Given the description of an element on the screen output the (x, y) to click on. 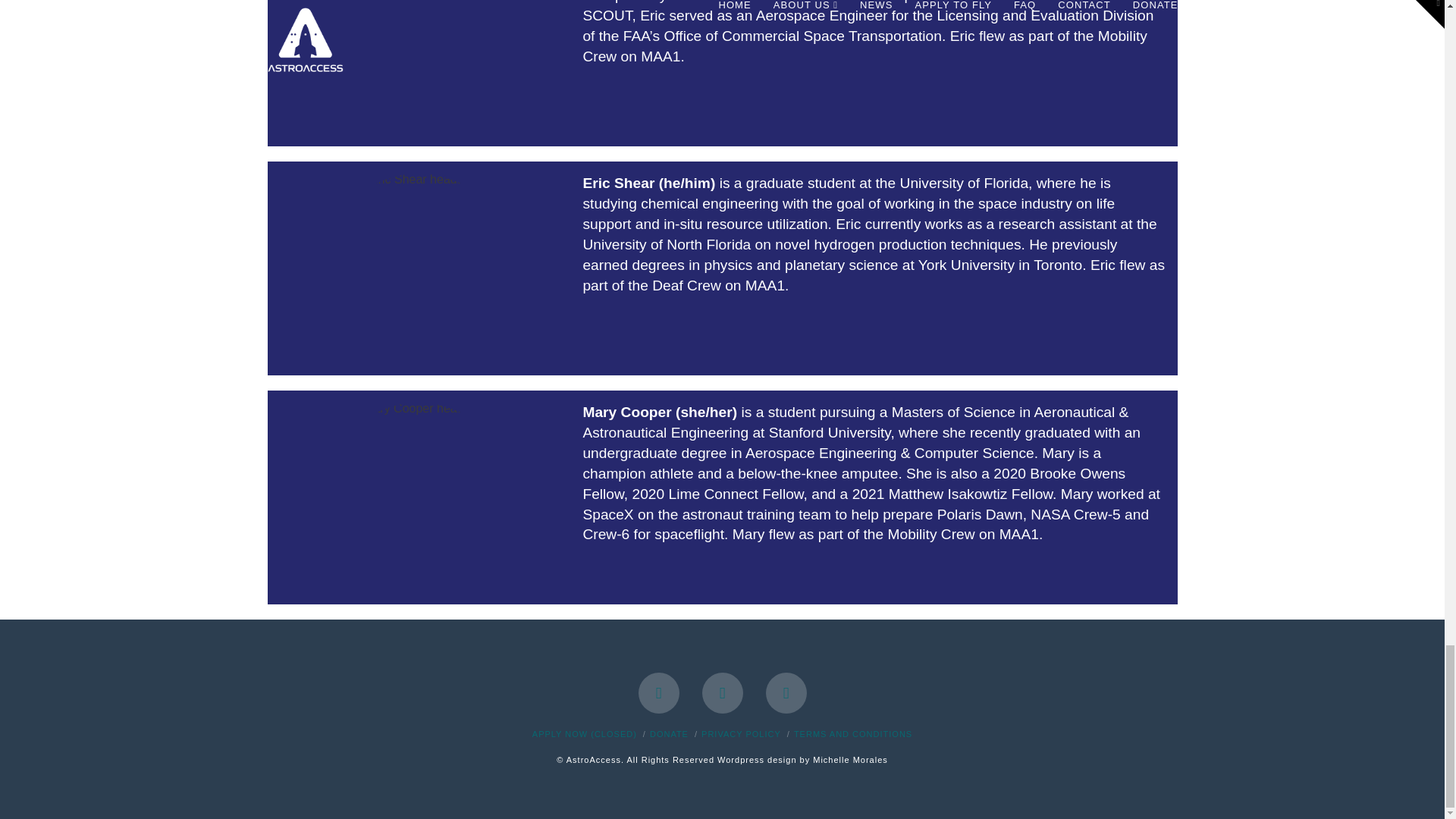
Instagram (785, 692)
TERMS AND CONDITIONS (852, 733)
PRIVACY POLICY (740, 733)
DONATE (668, 733)
Facebook (659, 692)
